Given the description of an element on the screen output the (x, y) to click on. 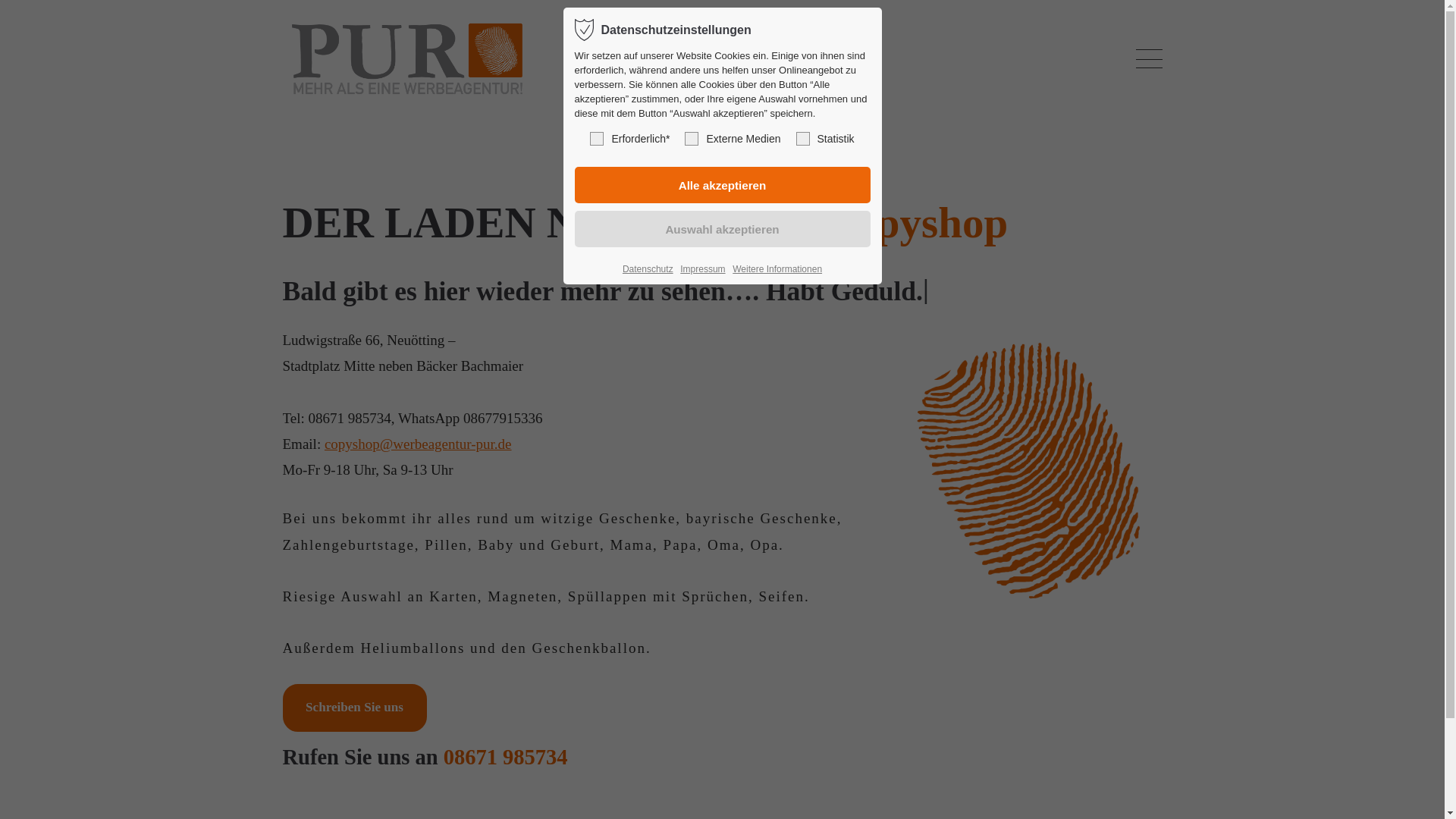
Datenschutz Element type: text (647, 269)
Impressum Element type: text (702, 269)
Alle akzeptieren Element type: text (722, 184)
Schreiben Sie uns Element type: text (354, 707)
Auswahl akzeptieren Element type: text (722, 228)
Weitere Informationen Element type: text (777, 269)
copyshop@werbeagentur-pur.de Element type: text (417, 443)
